Given the description of an element on the screen output the (x, y) to click on. 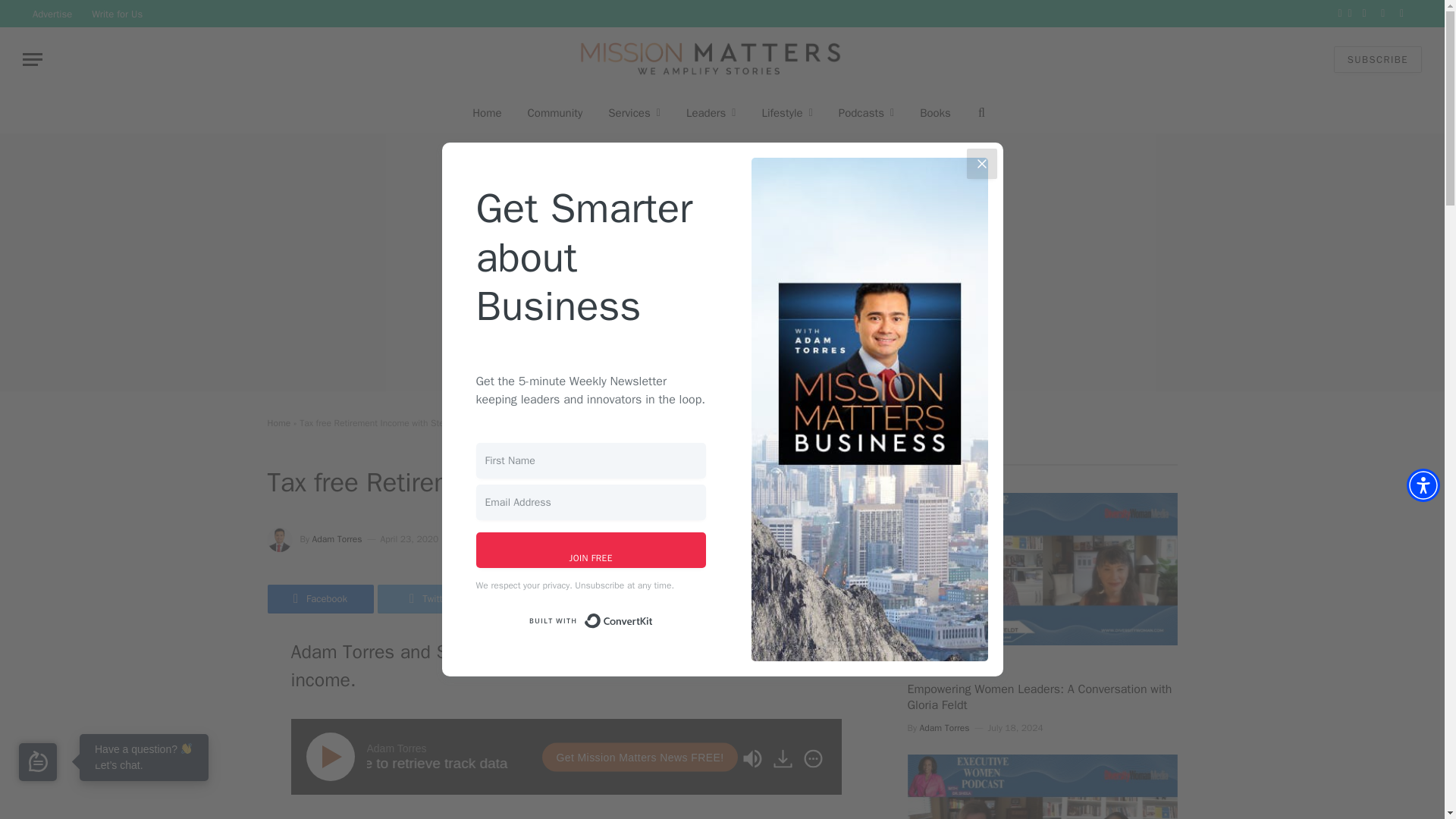
Write for Us (116, 13)
Lifestyle (786, 112)
Community (555, 112)
SUBSCRIBE (1377, 58)
Advertise (52, 13)
Home (486, 112)
Services (633, 112)
Accessibility Menu (1422, 485)
More (812, 759)
Download (783, 759)
Mission Matters (710, 59)
Leaders (710, 112)
Podcasts (866, 112)
